Given the description of an element on the screen output the (x, y) to click on. 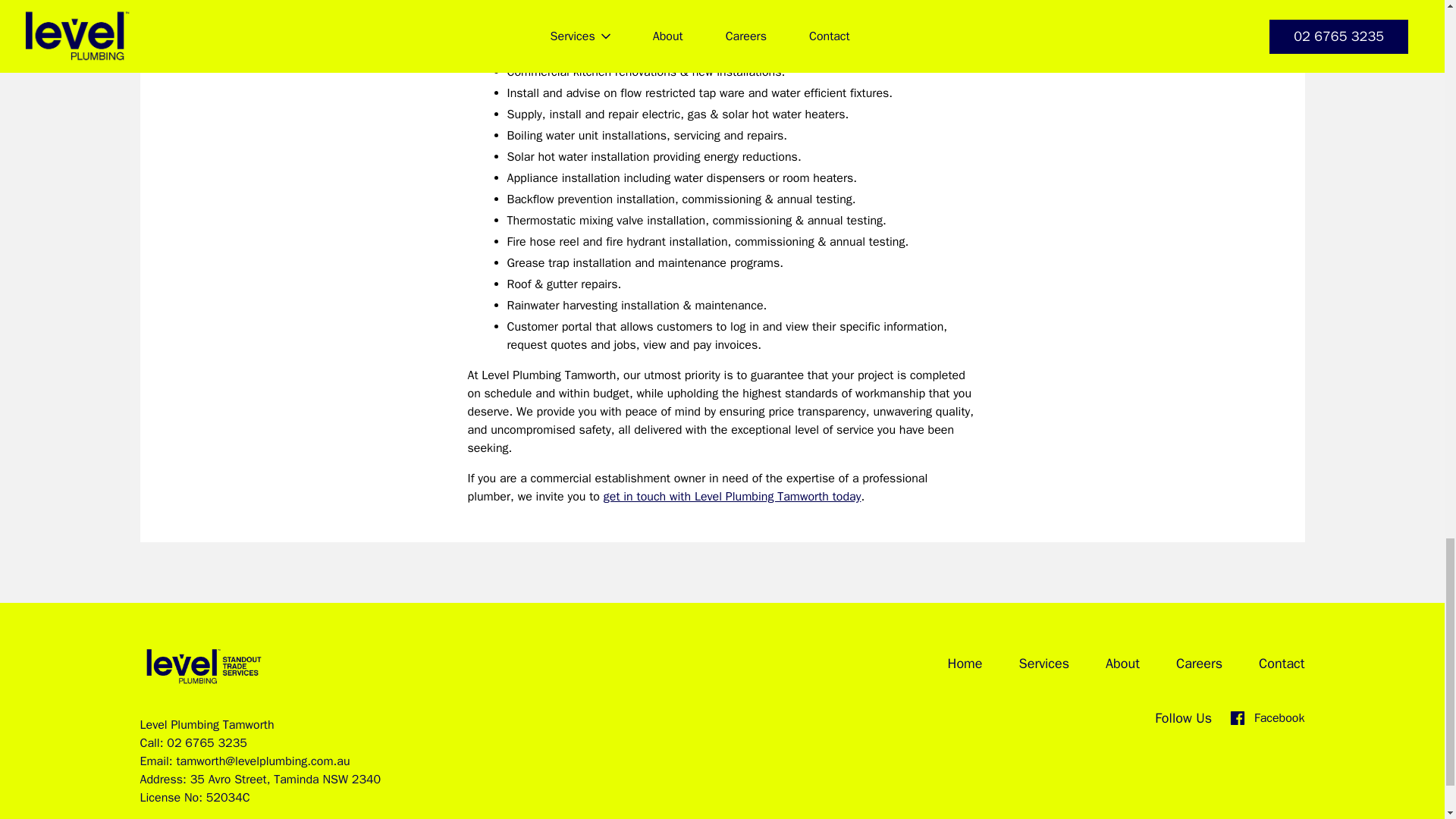
About (1122, 663)
get in touch with Level Plumbing Tamworth today (732, 496)
Careers (1199, 663)
Contact (1281, 663)
Home (964, 663)
Services (1044, 663)
Facebook (1267, 718)
